Given the description of an element on the screen output the (x, y) to click on. 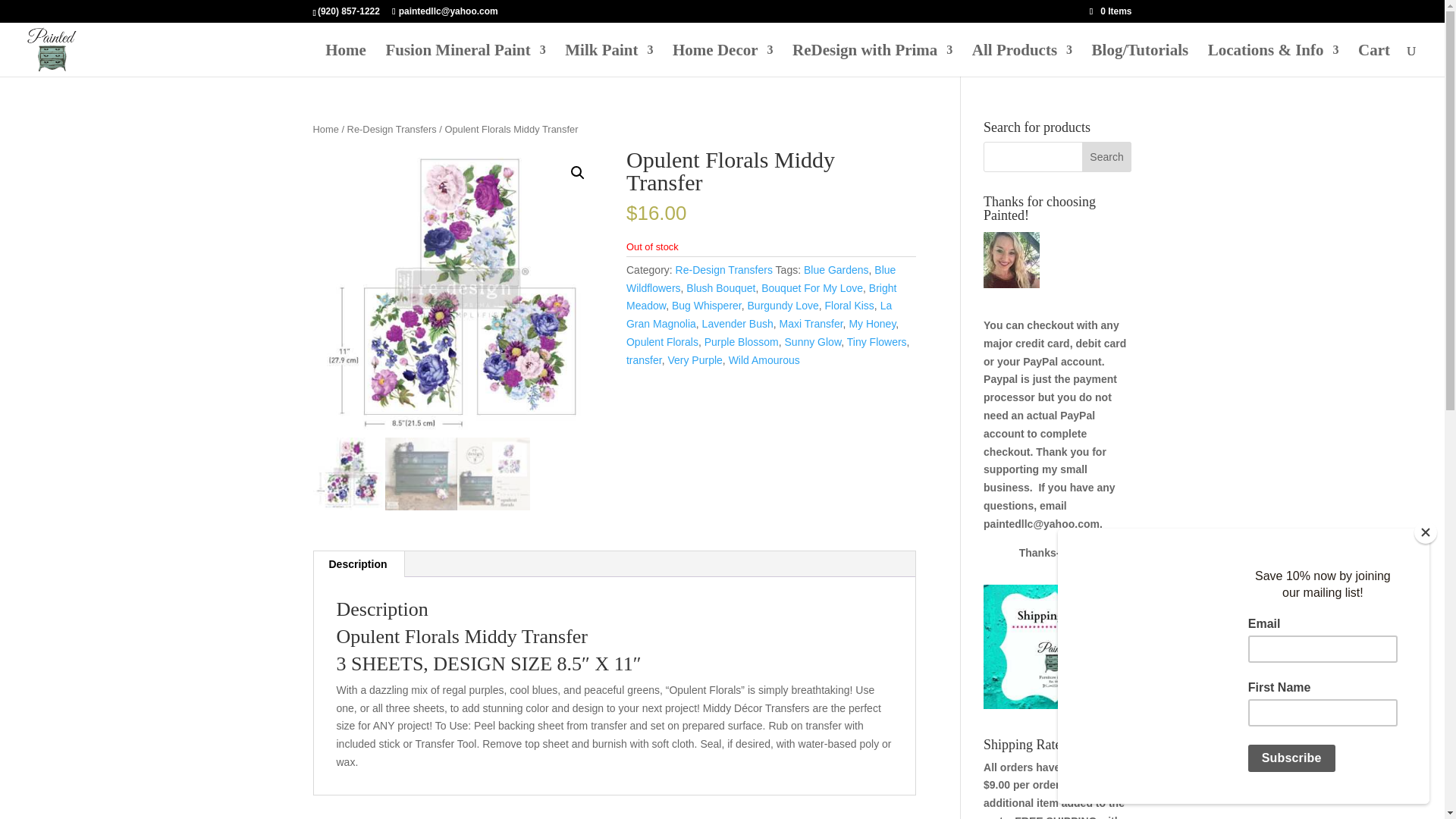
ReDesign with Prima (872, 60)
Contact Painted (1273, 60)
opulent florals middy transfer (457, 293)
Milk Paint (608, 60)
Home all about Painted (345, 60)
Home Decor (722, 60)
Home (345, 60)
Search (1106, 156)
All Products (1021, 60)
Your shopping cart at Painted (1374, 60)
Fusion Mineral Paint (464, 60)
0 Items (1110, 10)
